Given the description of an element on the screen output the (x, y) to click on. 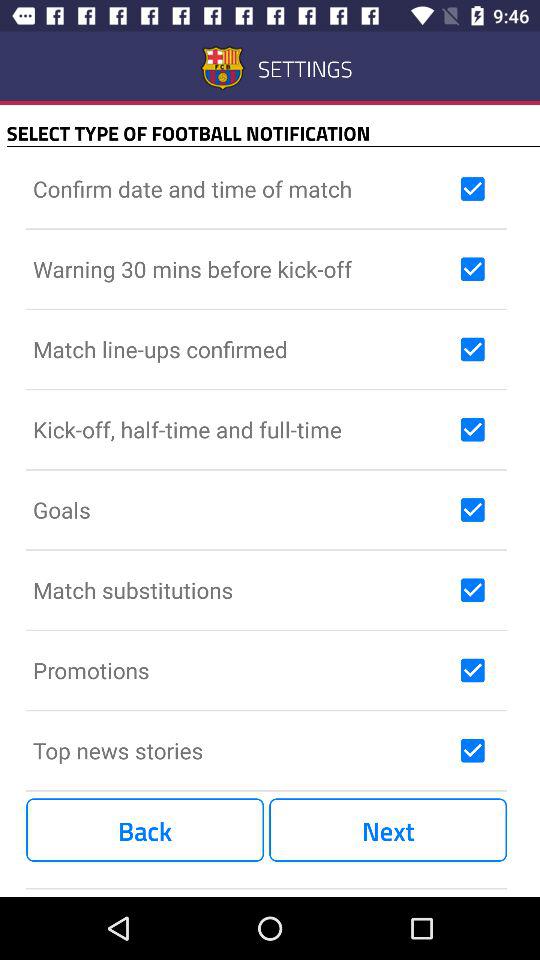
click icon below top news stories icon (145, 829)
